Given the description of an element on the screen output the (x, y) to click on. 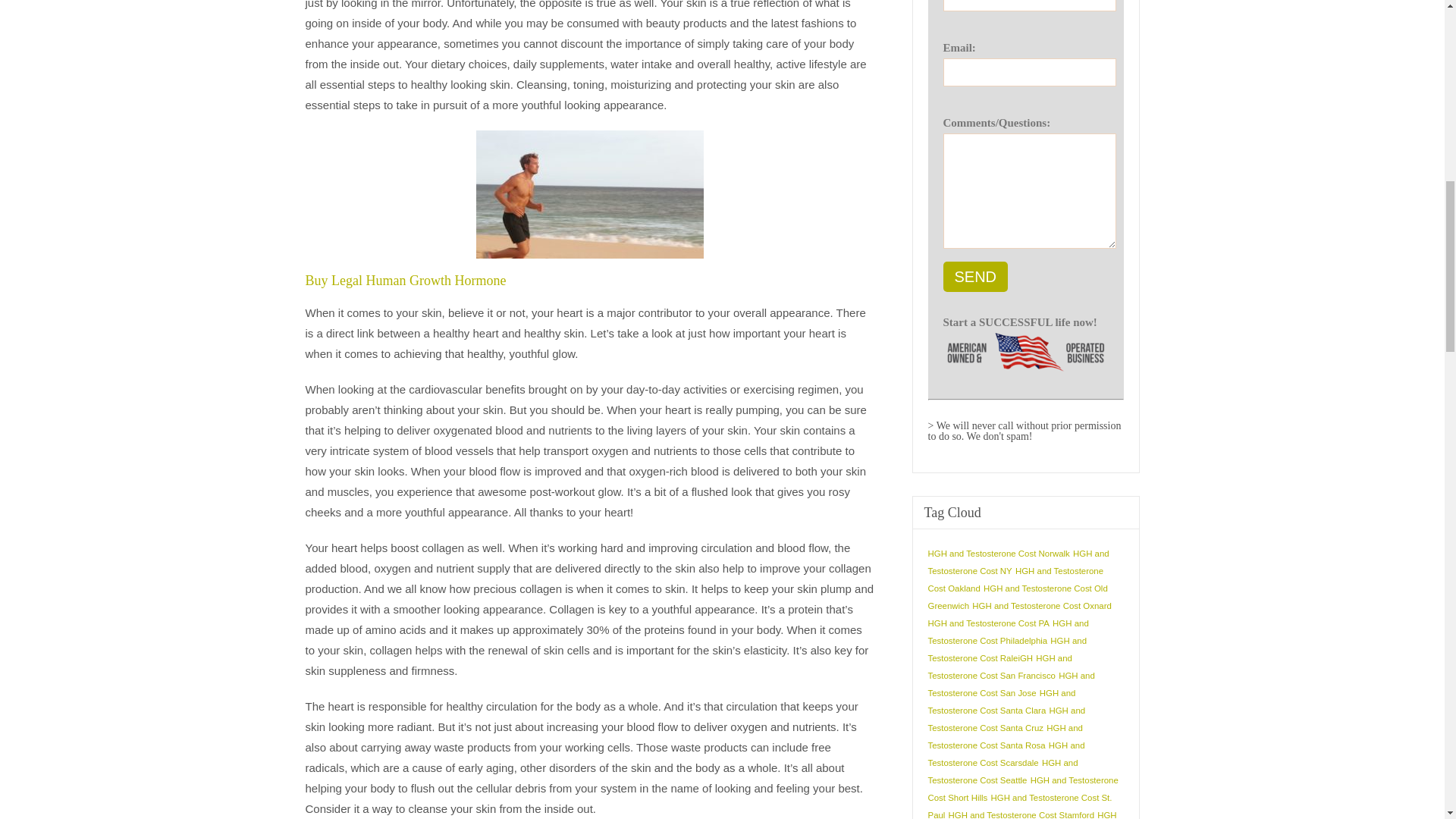
Send (976, 276)
